Given the description of an element on the screen output the (x, y) to click on. 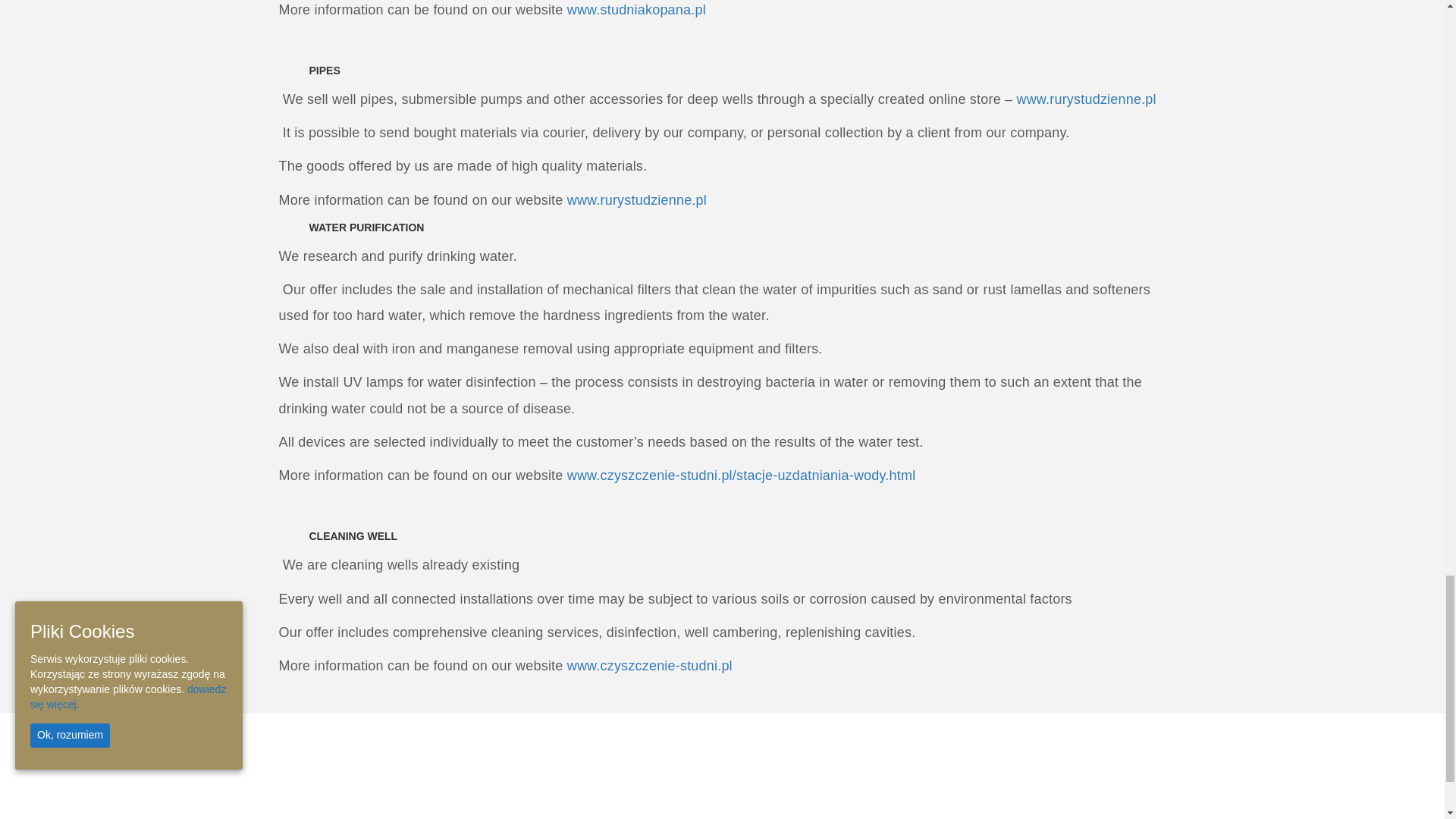
www.rurystudzienne.pl (1087, 99)
www.studniakopana.pl (638, 9)
www.czyszczenie-studni.pl (649, 665)
www.rurystudzienne.pl (637, 200)
